Given the description of an element on the screen output the (x, y) to click on. 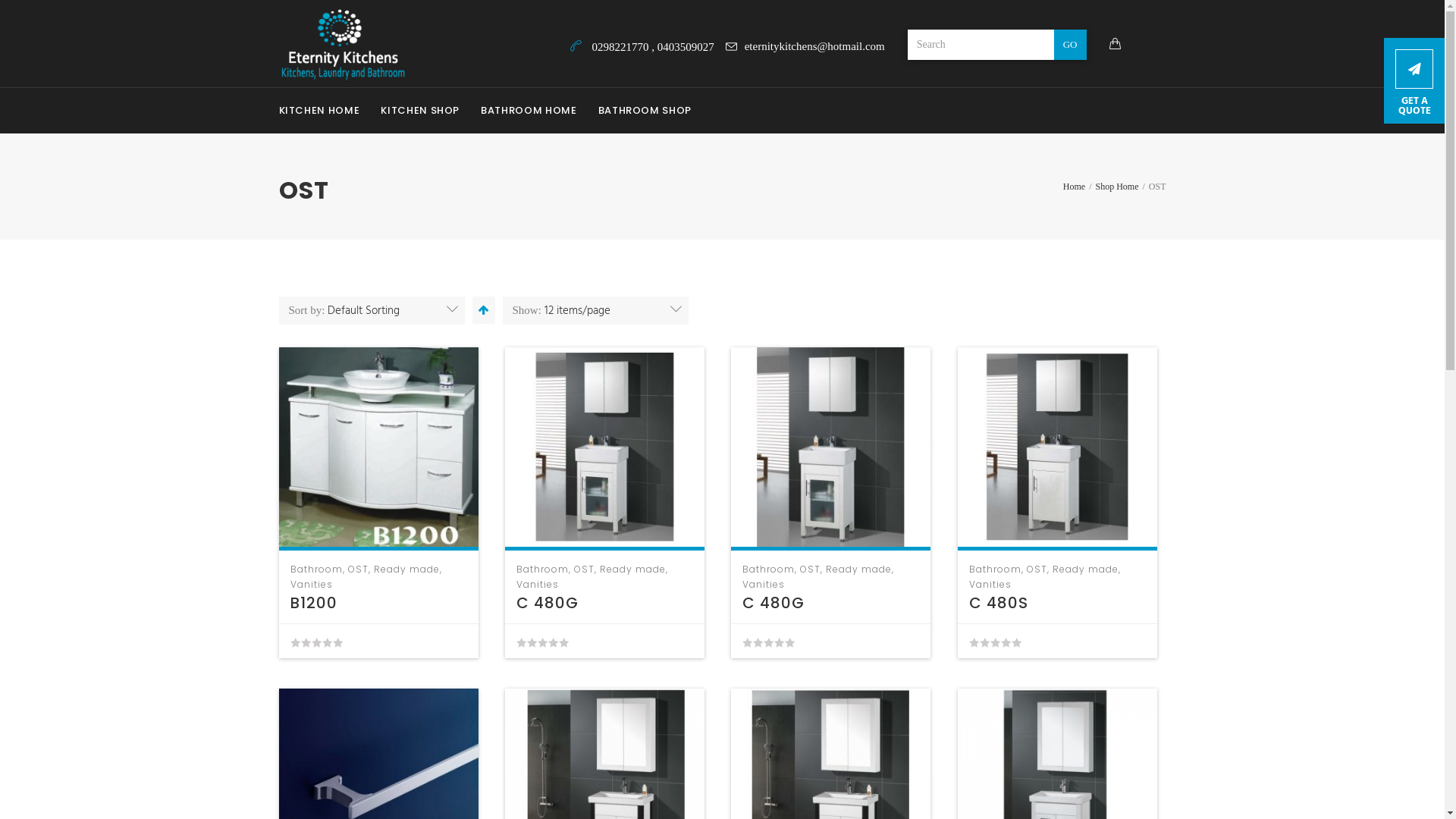
KITCHEN HOME Element type: text (324, 110)
Eternity Kitchens -  Element type: hover (341, 44)
Vanities Element type: text (990, 583)
Vanities Element type: text (310, 583)
C 480G Element type: text (547, 602)
Bathroom Element type: text (995, 568)
Rated 0 out of 5 Element type: hover (995, 640)
eternitykitchens@hotmail.com Element type: text (804, 46)
148 Element type: hover (1057, 446)
Ready made Element type: text (1085, 568)
Vanities Element type: text (537, 583)
OST Element type: text (1036, 568)
Home Element type: text (1074, 186)
Ready made Element type: text (406, 568)
Bathroom Element type: text (315, 568)
Ready made Element type: text (632, 568)
Products descending Element type: hover (481, 310)
Rated 0 out of 5 Element type: hover (768, 640)
147 Element type: hover (604, 446)
130 Element type: hover (830, 446)
Bathroom Element type: text (768, 568)
Rated 0 out of 5 Element type: hover (542, 640)
BATHROOM SHOP Element type: text (644, 110)
Vanities Element type: text (763, 583)
Bathroom Element type: text (542, 568)
OST Element type: text (810, 568)
Shop Home Element type: text (1116, 186)
OST Element type: text (584, 568)
Rated 0 out of 5 Element type: hover (315, 640)
b-55 Element type: hover (378, 446)
OST Element type: text (357, 568)
C 480S Element type: text (998, 602)
GO Element type: text (1070, 44)
BATHROOM HOME Element type: text (528, 110)
KITCHEN SHOP Element type: text (420, 110)
Ready made Element type: text (858, 568)
C 480G Element type: text (773, 602)
B1200 Element type: text (312, 602)
